Given the description of an element on the screen output the (x, y) to click on. 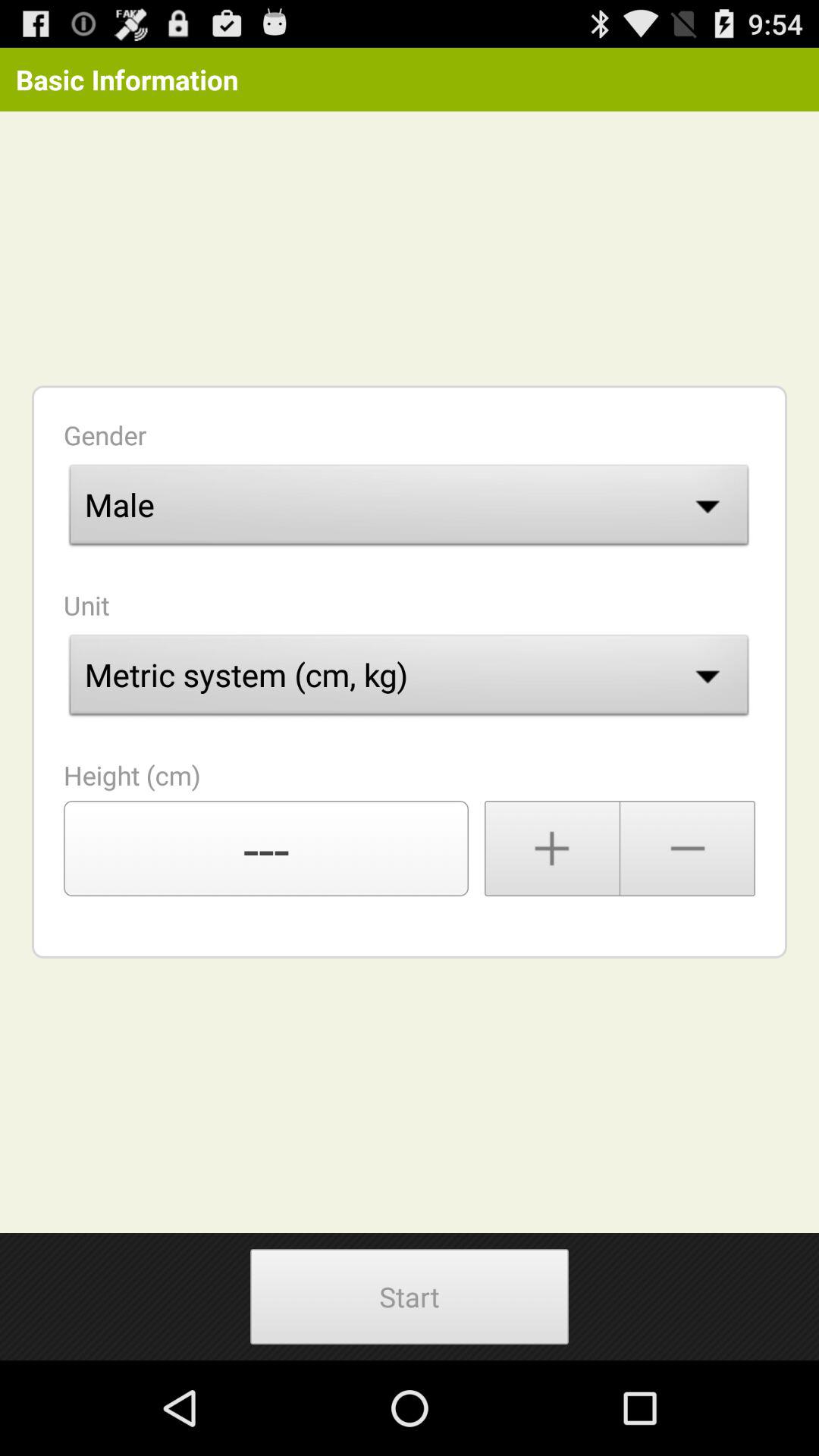
select the app below the height (cm) (265, 848)
